Given the description of an element on the screen output the (x, y) to click on. 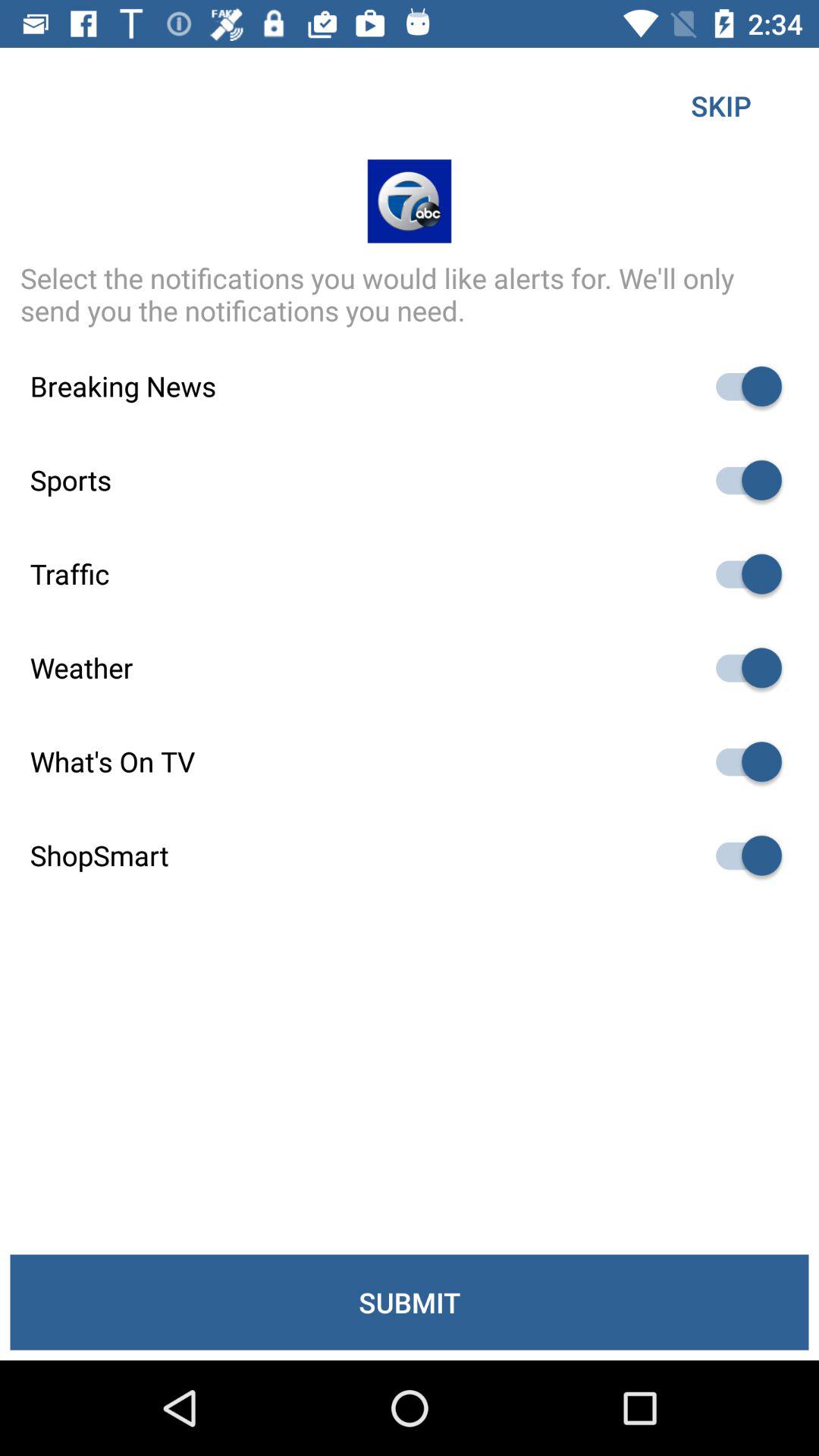
toggle breaking news notifications (741, 386)
